Given the description of an element on the screen output the (x, y) to click on. 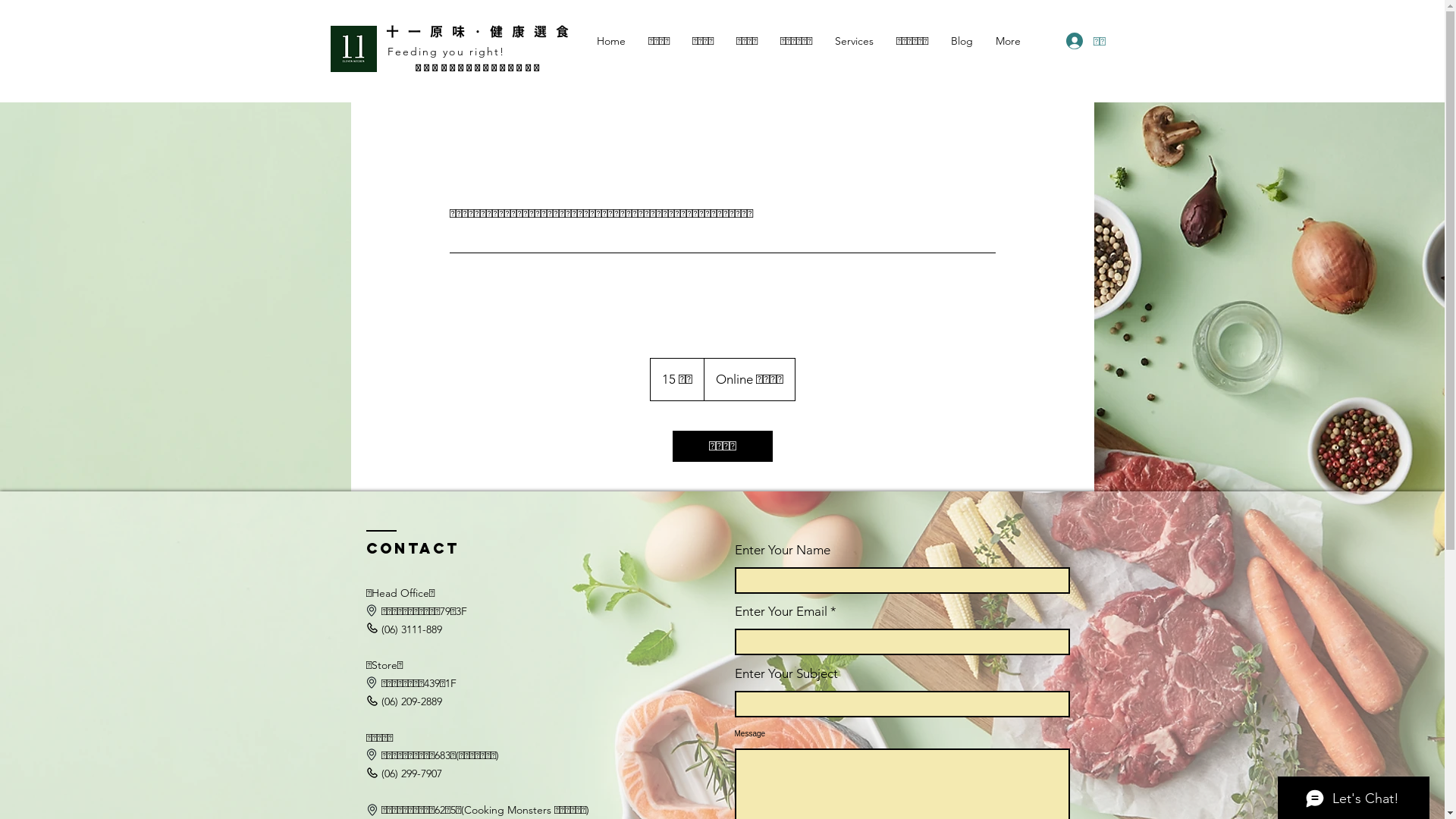
Home Element type: text (611, 40)
Blog Element type: text (960, 40)
Services Element type: text (853, 40)
Feeding you right!  Element type: text (448, 51)
